Given the description of an element on the screen output the (x, y) to click on. 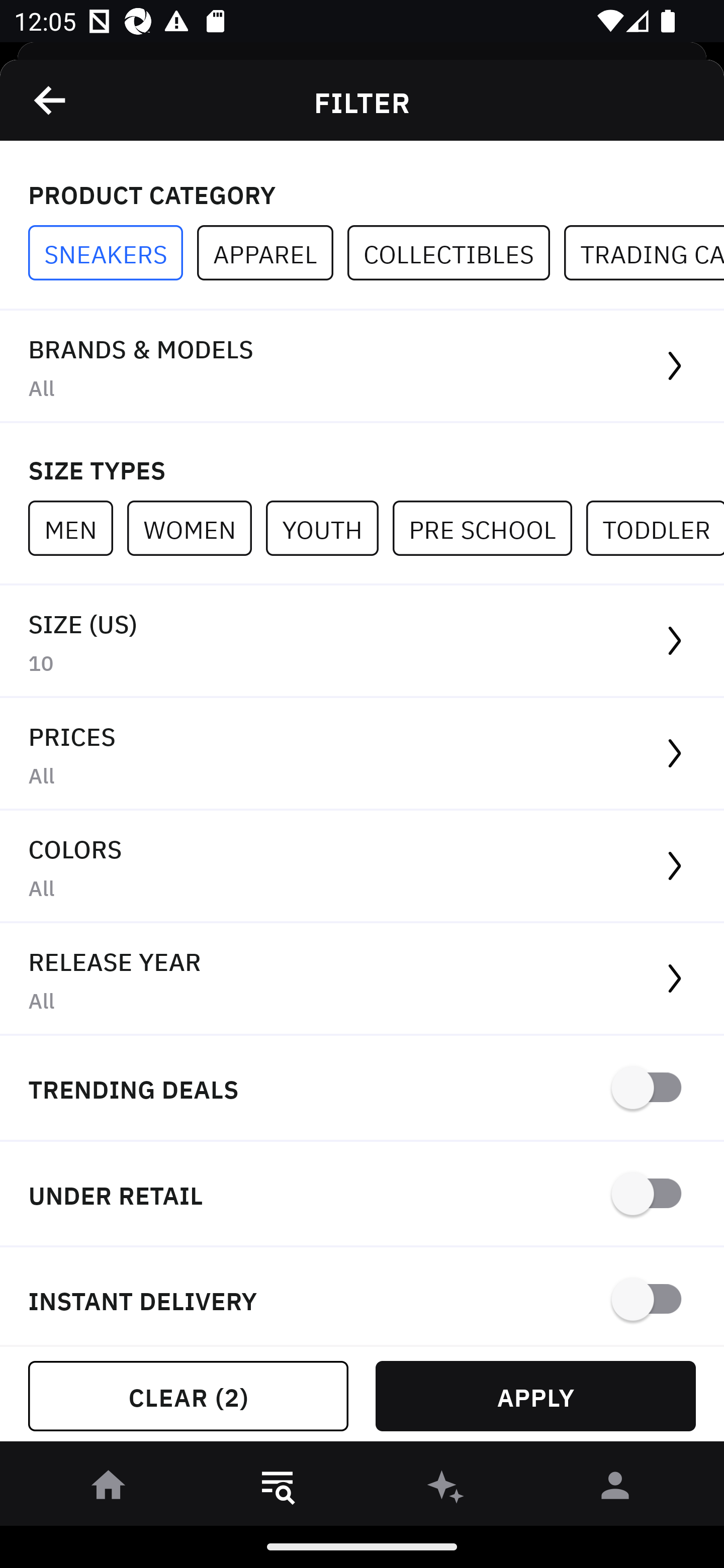
 (50, 100)
SNEAKERS (112, 252)
APPAREL (271, 252)
COLLECTIBLES (455, 252)
TRADING CARDS (643, 252)
BRANDS & MODELS All (362, 366)
MEN (77, 527)
WOMEN (196, 527)
YOUTH (328, 527)
PRE SCHOOL (489, 527)
TODDLER (655, 527)
SIZE (US) 10 (362, 640)
PRICES All (362, 753)
COLORS All (362, 866)
RELEASE YEAR All (362, 979)
TRENDING DEALS (362, 1088)
UNDER RETAIL (362, 1194)
INSTANT DELIVERY (362, 1296)
CLEAR (2) (188, 1396)
APPLY (535, 1396)
󰋜 (108, 1488)
󱎸 (277, 1488)
󰫢 (446, 1488)
󰀄 (615, 1488)
